Given the description of an element on the screen output the (x, y) to click on. 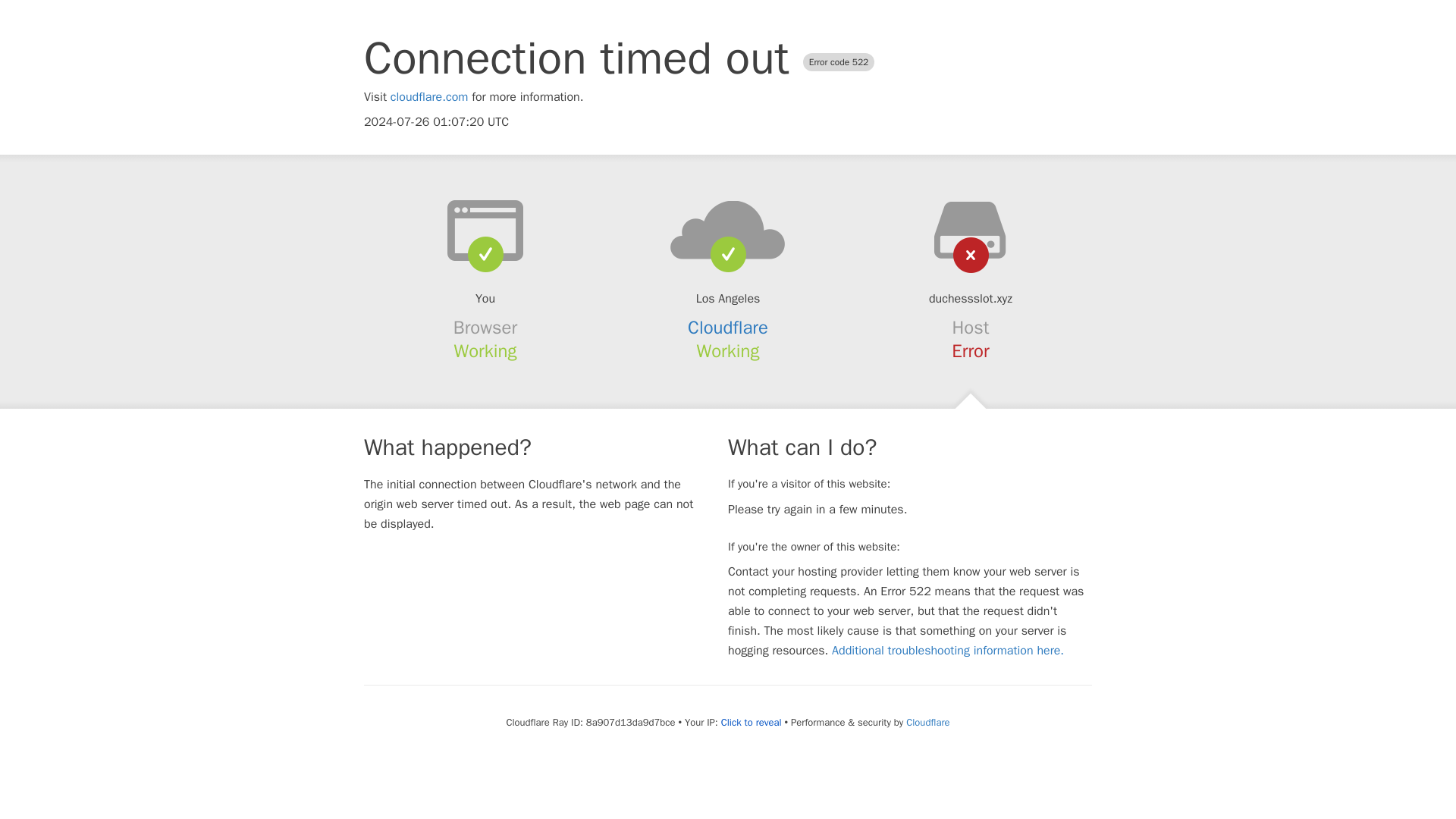
Cloudflare (927, 721)
cloudflare.com (429, 96)
Click to reveal (750, 722)
Additional troubleshooting information here. (947, 650)
Cloudflare (727, 327)
